Given the description of an element on the screen output the (x, y) to click on. 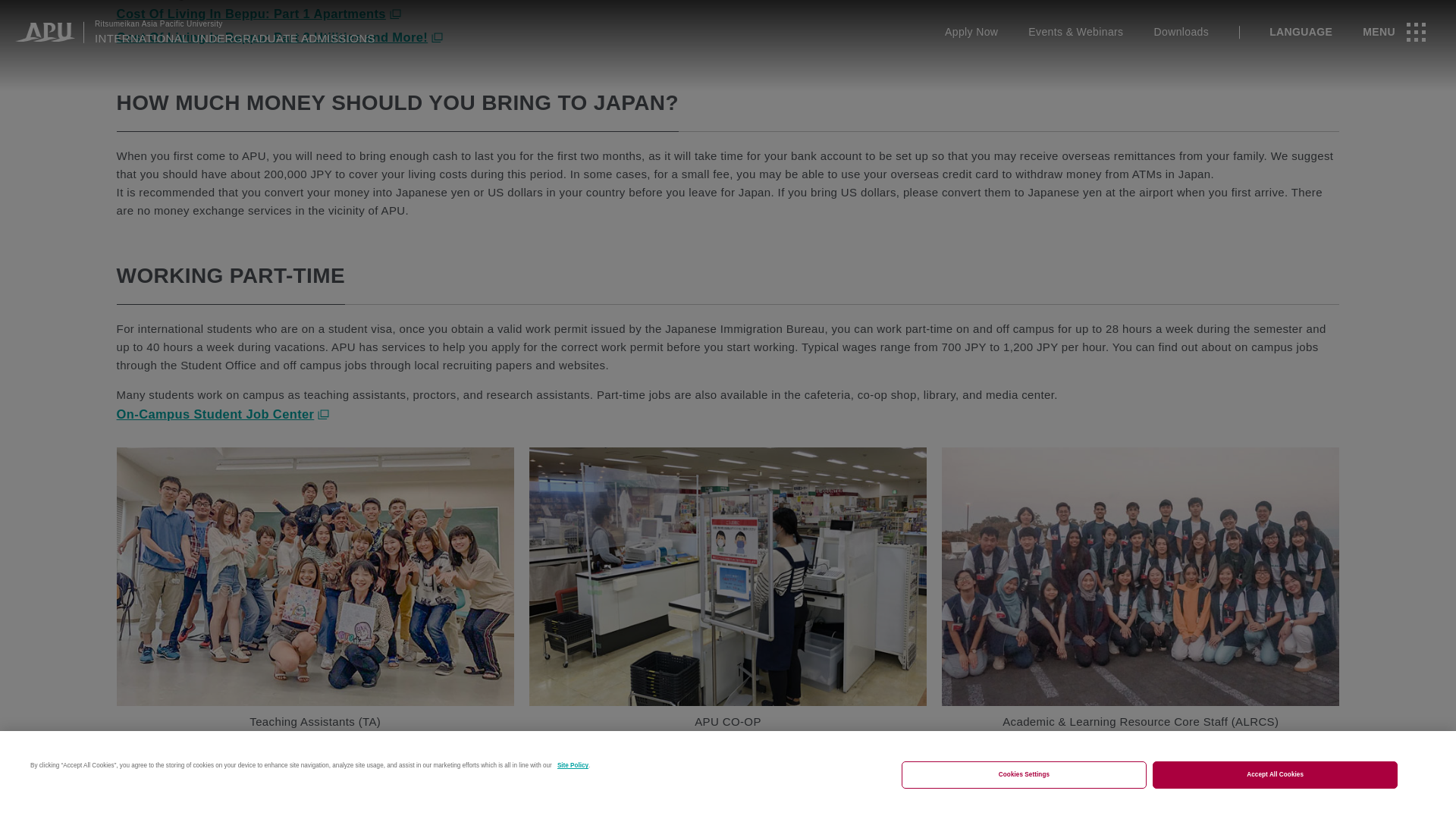
Cost Of Living In Beppu: Part 1 Apartments (258, 13)
On-Campus Student Job Center (223, 413)
Cost Of Living In Beppu: Part 2 Utilities and More! (280, 37)
